Given the description of an element on the screen output the (x, y) to click on. 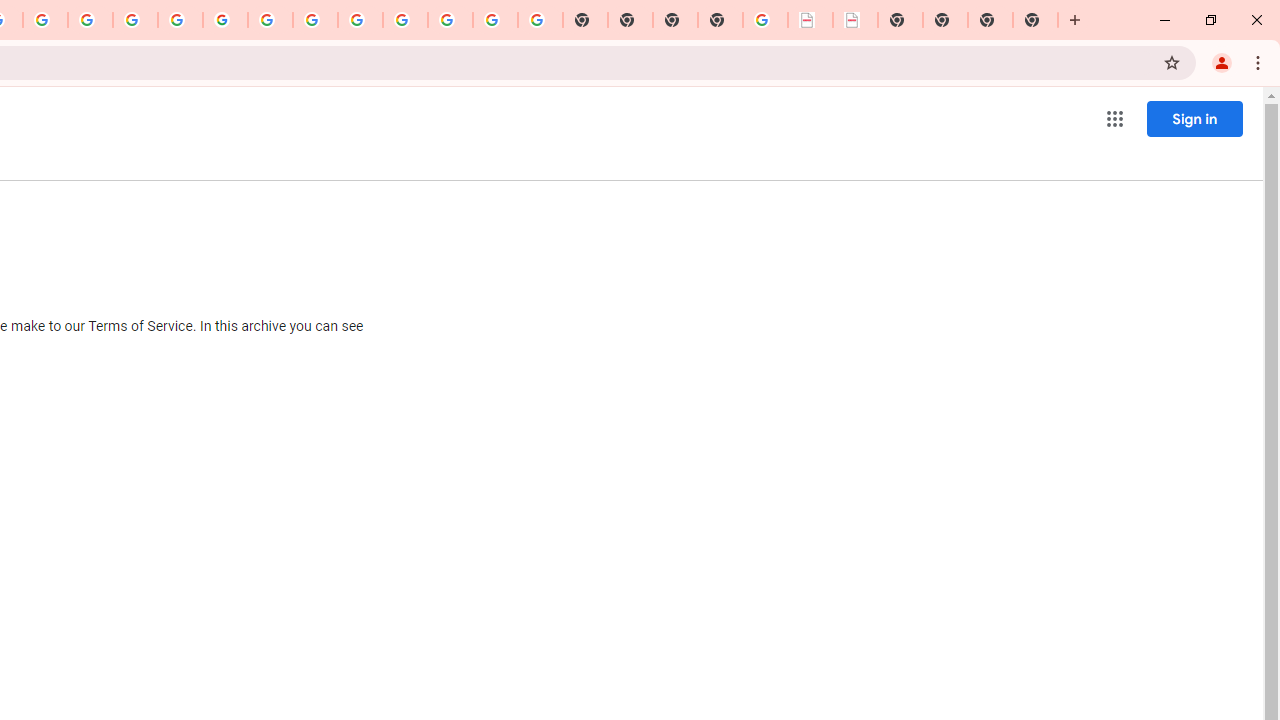
LAAD Defence & Security 2025 | BAE Systems (810, 20)
Google Images (540, 20)
New Tab (720, 20)
